Given the description of an element on the screen output the (x, y) to click on. 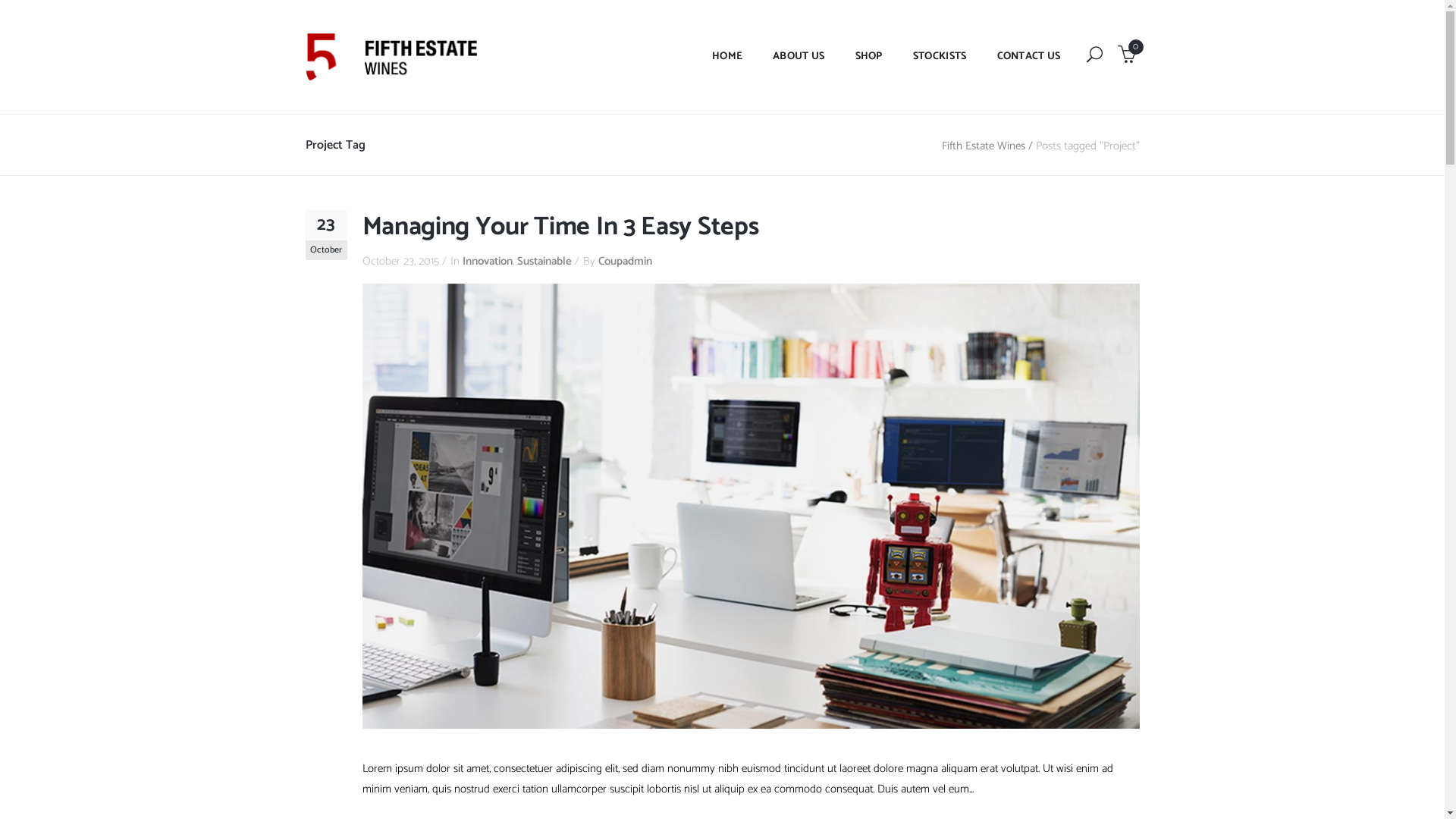
Sustainable Element type: text (544, 260)
SHOP Element type: text (868, 56)
STOCKISTS Element type: text (939, 56)
CONTACT US Element type: text (1028, 56)
Innovation Element type: text (487, 260)
Fifth Estate Wines Element type: text (983, 145)
HOME Element type: text (726, 56)
Managing Your Time In 3 Easy Steps Element type: hover (750, 504)
ABOUT US Element type: text (798, 56)
Coupadmin Element type: text (624, 260)
Managing Your Time In 3 Easy Steps Element type: text (560, 226)
0 Element type: text (1126, 57)
